Given the description of an element on the screen output the (x, y) to click on. 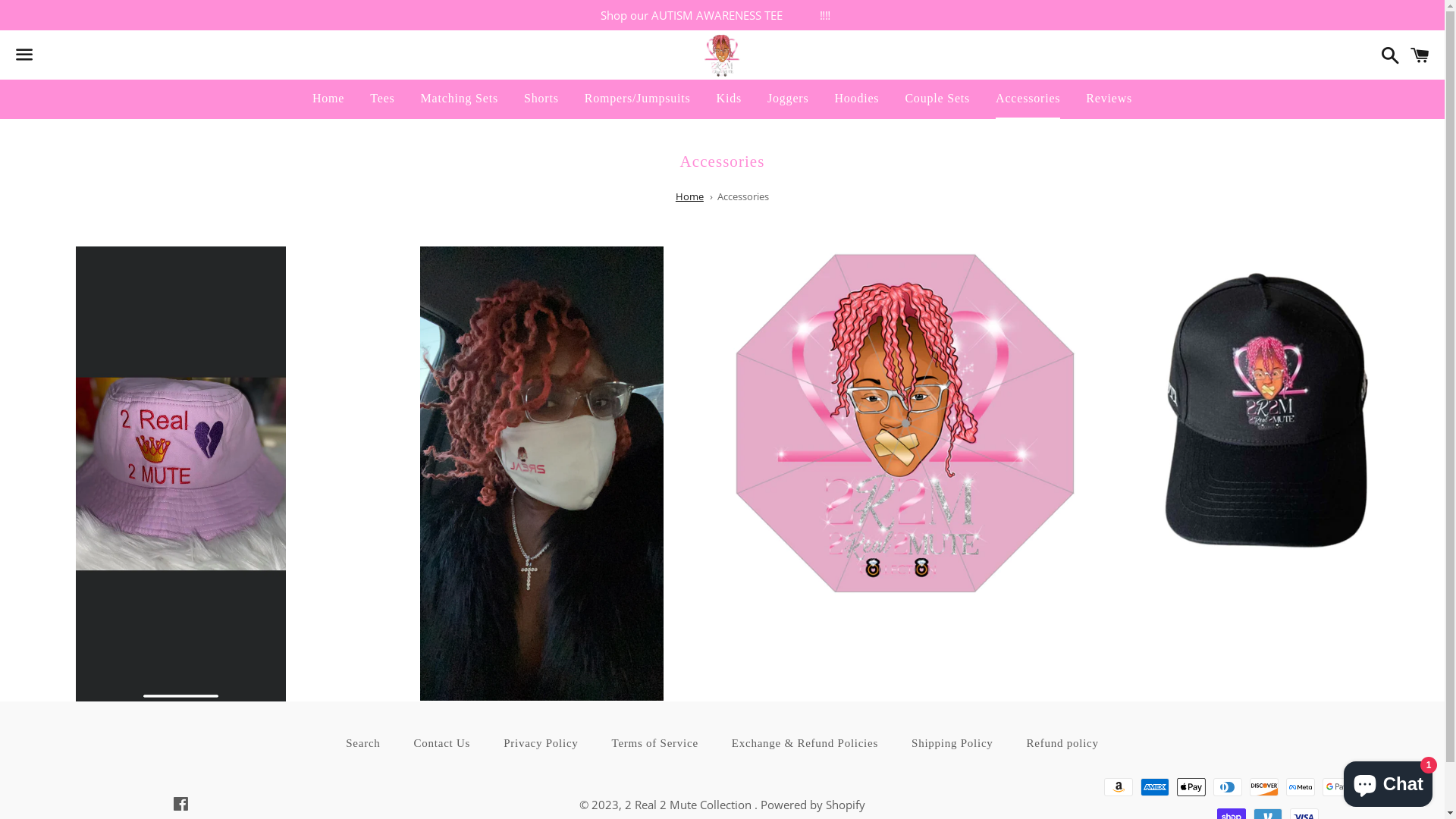
Cart Element type: text (1419, 54)
Facebook Element type: text (180, 804)
Shipping Policy Element type: text (952, 743)
2 Real 2 Mute Collection Element type: text (689, 804)
Search Element type: text (362, 743)
Hoodies Element type: text (856, 98)
Terms of Service Element type: text (654, 743)
Joggers Element type: text (787, 98)
Search Element type: text (1386, 54)
Home Element type: text (328, 98)
Reviews Element type: text (1108, 98)
Shopify online store chat Element type: hover (1388, 780)
Exchange & Refund Policies Element type: text (804, 743)
Menu Element type: text (24, 54)
Shorts Element type: text (541, 98)
Matching Sets Element type: text (459, 98)
Refund policy Element type: text (1062, 743)
Powered by Shopify Element type: text (812, 804)
Accessories Element type: text (1027, 98)
Contact Us Element type: text (442, 743)
Couple Sets Element type: text (937, 98)
Rompers/Jumpsuits Element type: text (637, 98)
Accessories Element type: text (742, 196)
Tees Element type: text (381, 98)
Kids Element type: text (729, 98)
Home Element type: text (689, 196)
Privacy Policy Element type: text (540, 743)
